Given the description of an element on the screen output the (x, y) to click on. 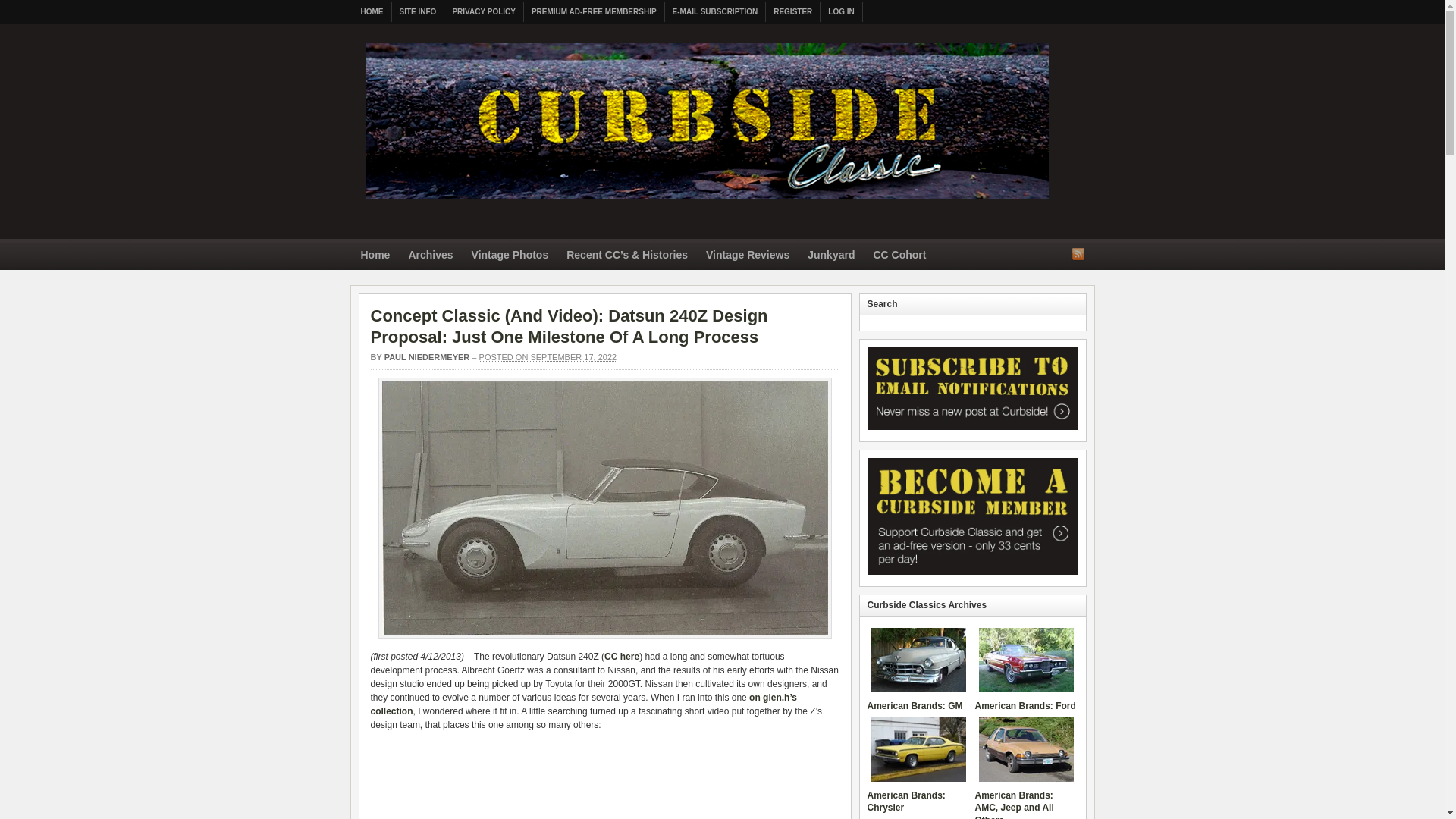
HOME (372, 12)
PREMIUM AD-FREE MEMBERSHIP (594, 12)
Archives (429, 256)
Curbside Classic RSS Feed (1078, 253)
REGISTER (793, 12)
LOG IN (841, 12)
2022-09-17T10:01:42-07:00 (548, 356)
E-MAIL SUBSCRIPTION (716, 12)
PRIVACY POLICY (484, 12)
Home (375, 256)
